Given the description of an element on the screen output the (x, y) to click on. 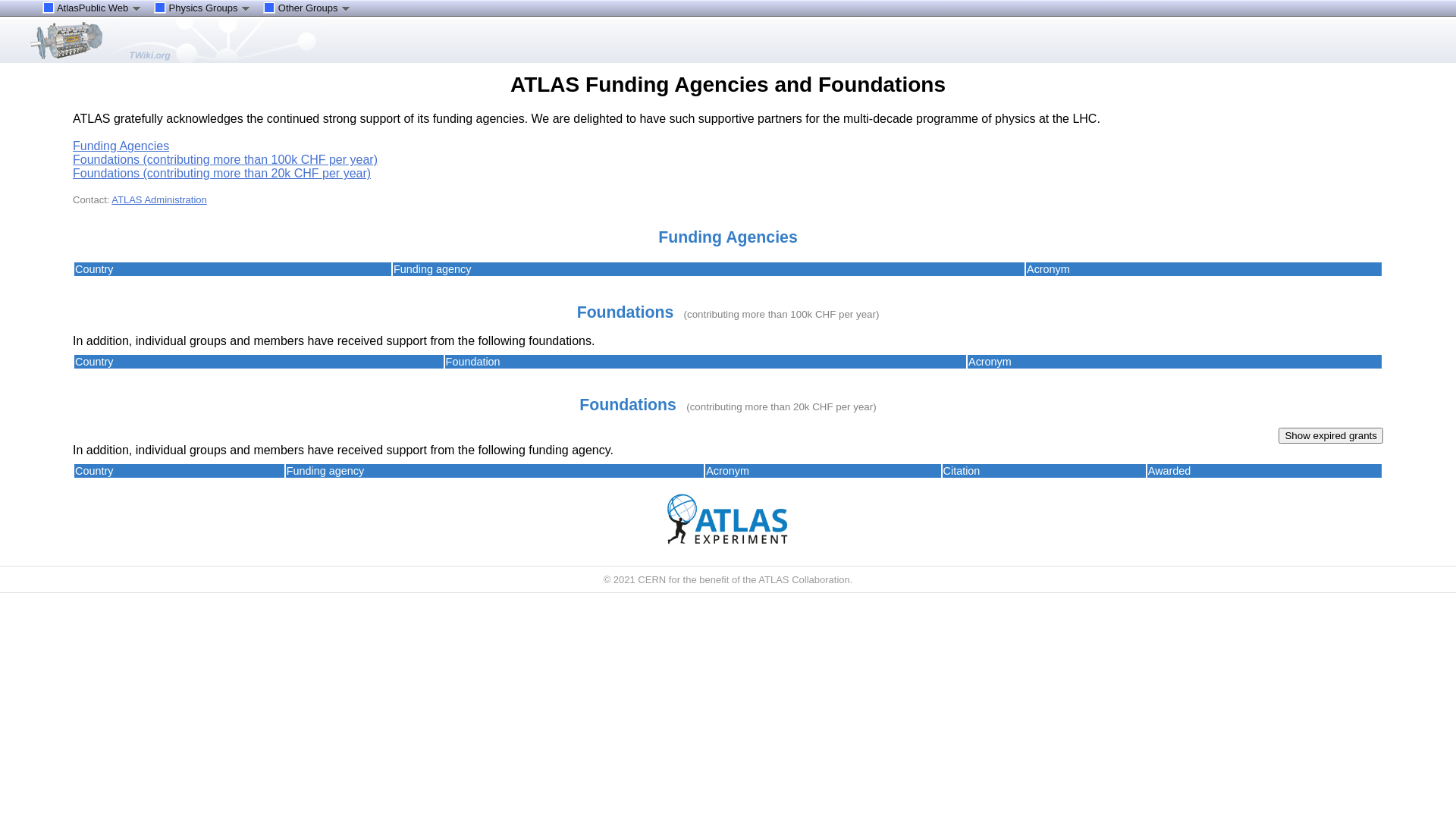
Funding Agencies Element type: text (120, 145)
ATLAS Element type: hover (66, 40)
Foundations (contributing more than 100k CHF per year) Element type: text (224, 159)
AtlasPublic Web Element type: text (91, 7)
Show expired grants Element type: text (1330, 435)
Physics Groups Element type: text (202, 7)
Other Groups Element type: text (307, 7)
ATLAS Administration Element type: text (158, 199)
Foundations (contributing more than 20k CHF per year) Element type: text (221, 172)
